Given the description of an element on the screen output the (x, y) to click on. 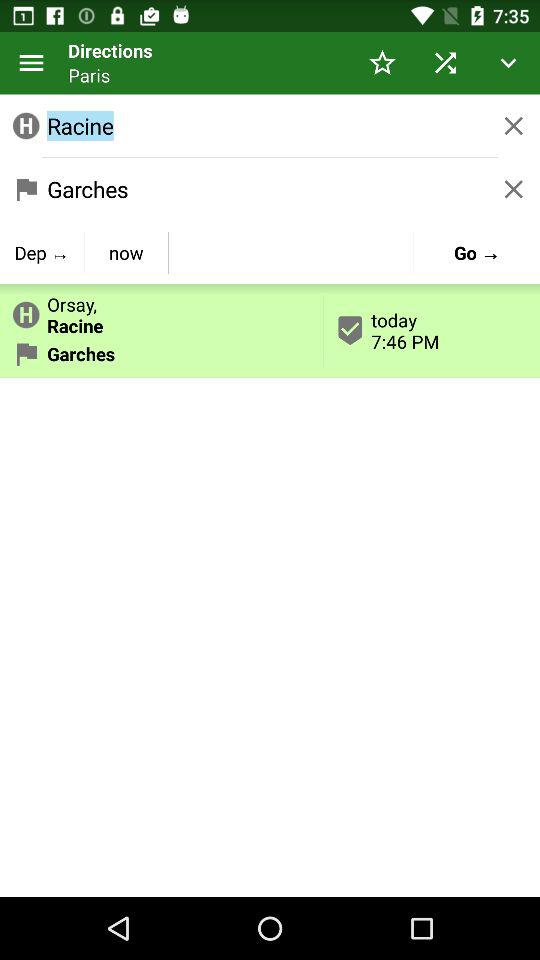
launch the item above racine (31, 62)
